Given the description of an element on the screen output the (x, y) to click on. 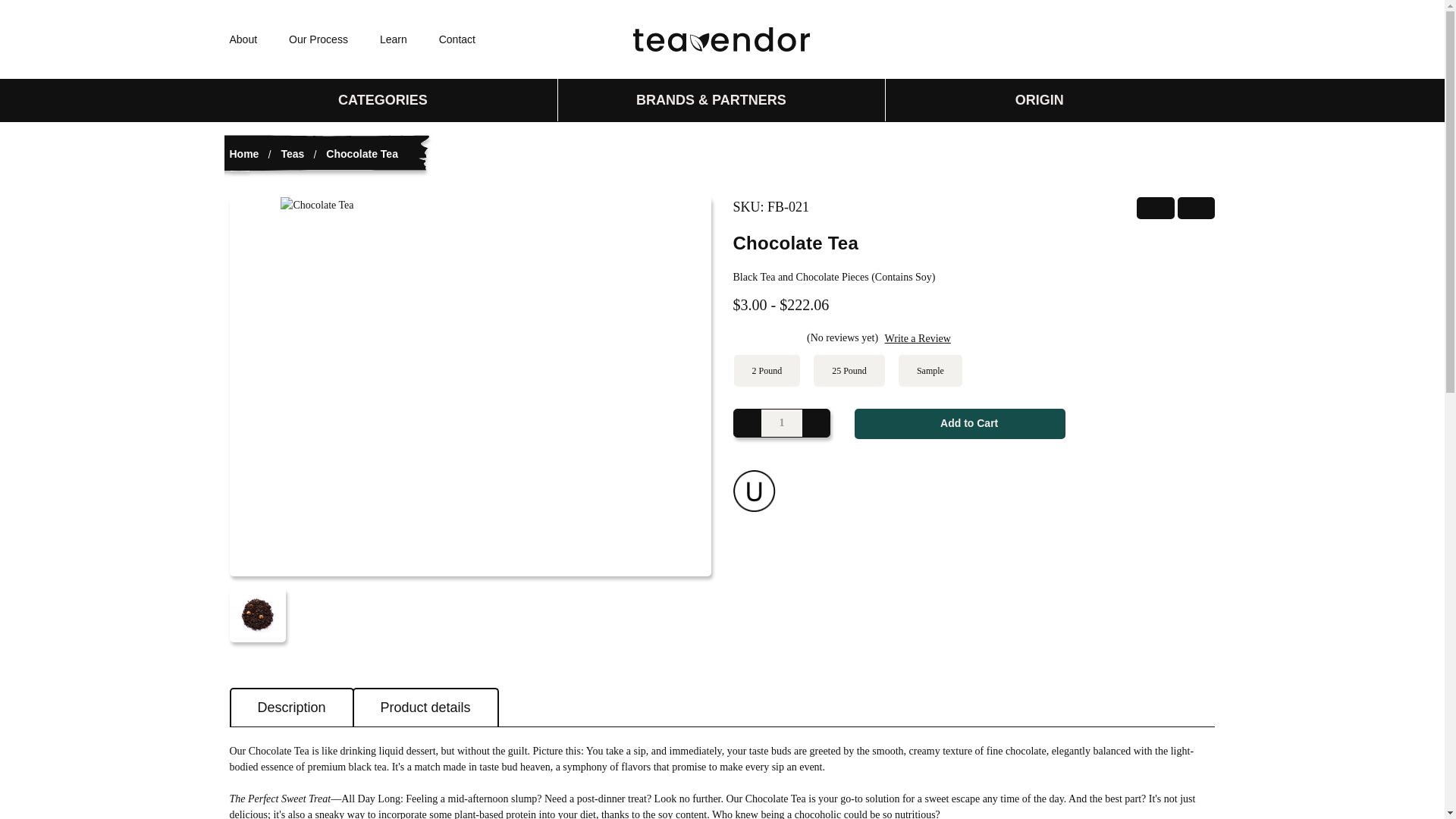
CATEGORIES (392, 99)
Favorites (1061, 38)
TeaVendor (721, 39)
Our Process (317, 39)
1 (782, 422)
